Given the description of an element on the screen output the (x, y) to click on. 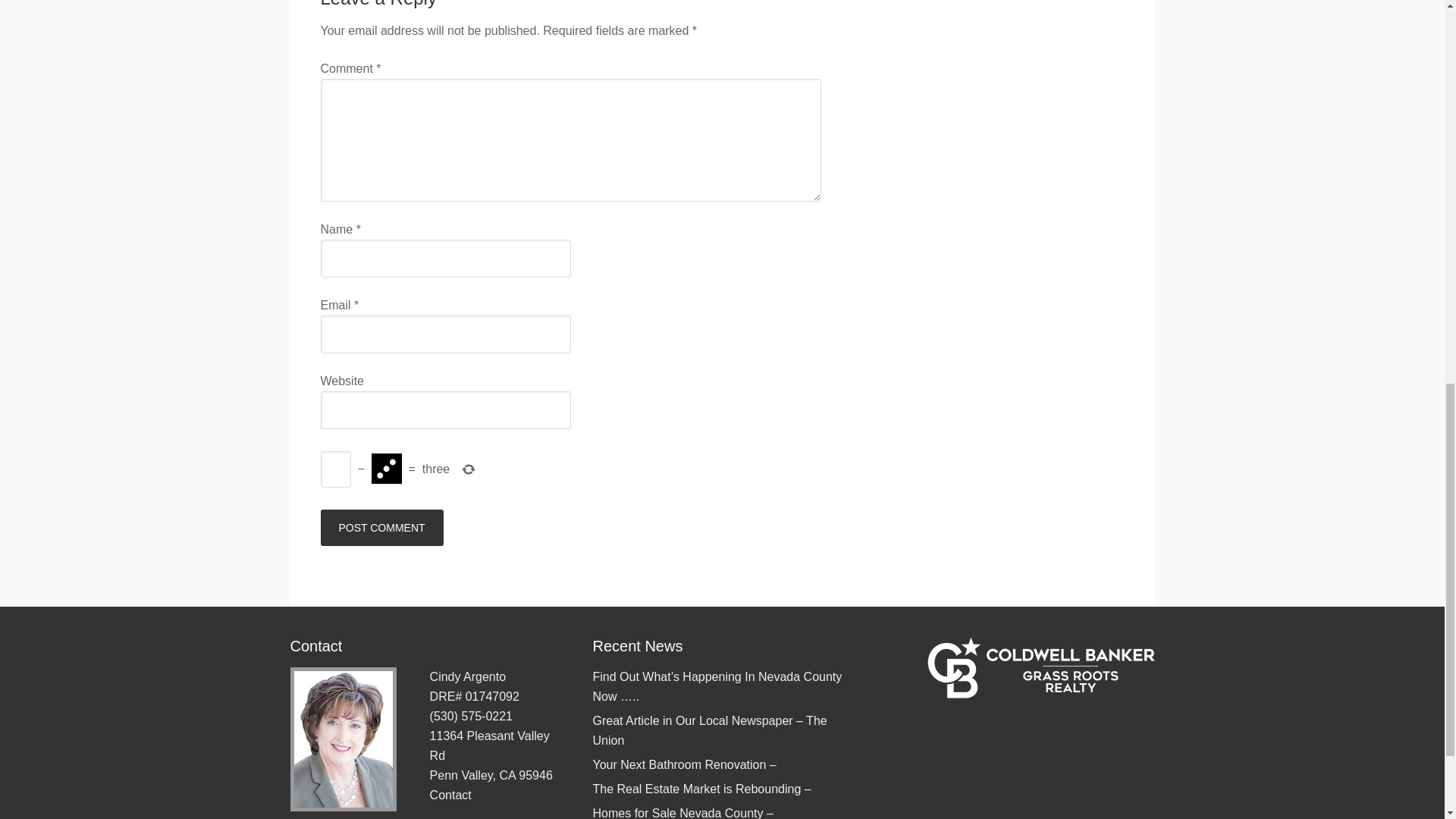
Post Comment (381, 527)
Contact (450, 794)
Post Comment (381, 527)
